Given the description of an element on the screen output the (x, y) to click on. 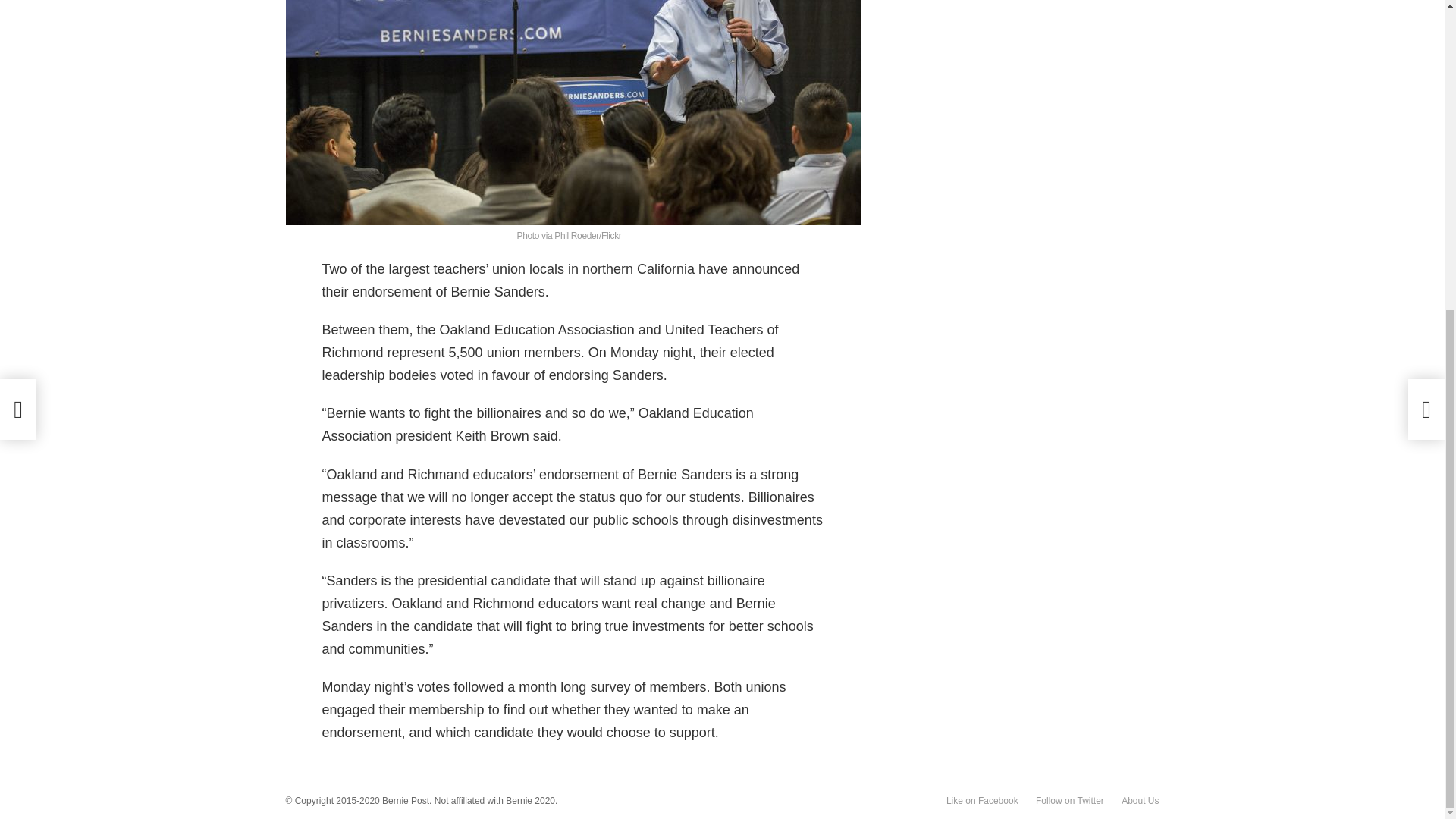
Follow on Twitter (1069, 800)
About Us (1139, 800)
Like on Facebook (982, 800)
